Given the description of an element on the screen output the (x, y) to click on. 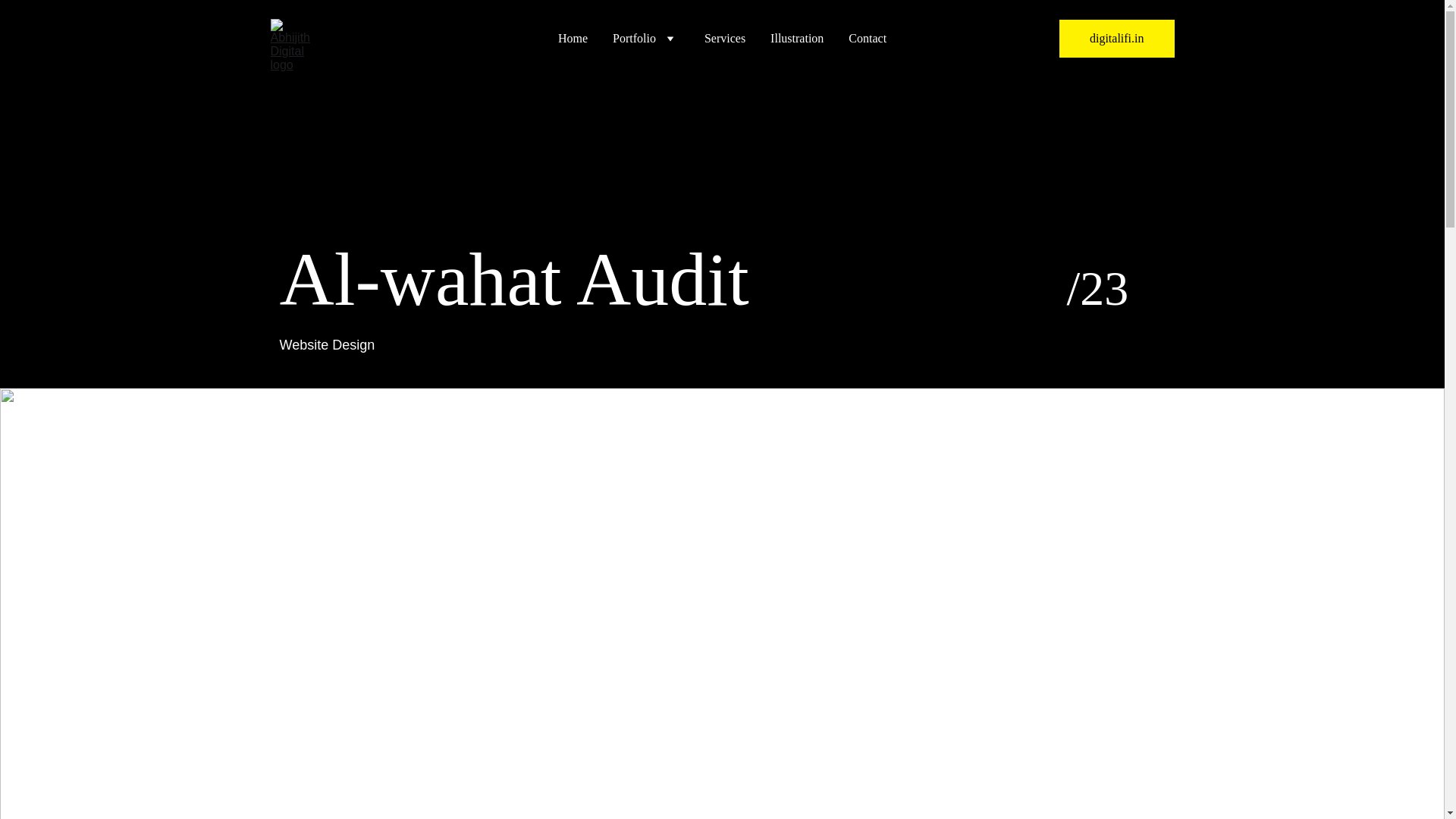
Home (572, 38)
digitalifi.in (1116, 38)
Illustration (797, 38)
Services (724, 38)
Contact (867, 38)
